Given the description of an element on the screen output the (x, y) to click on. 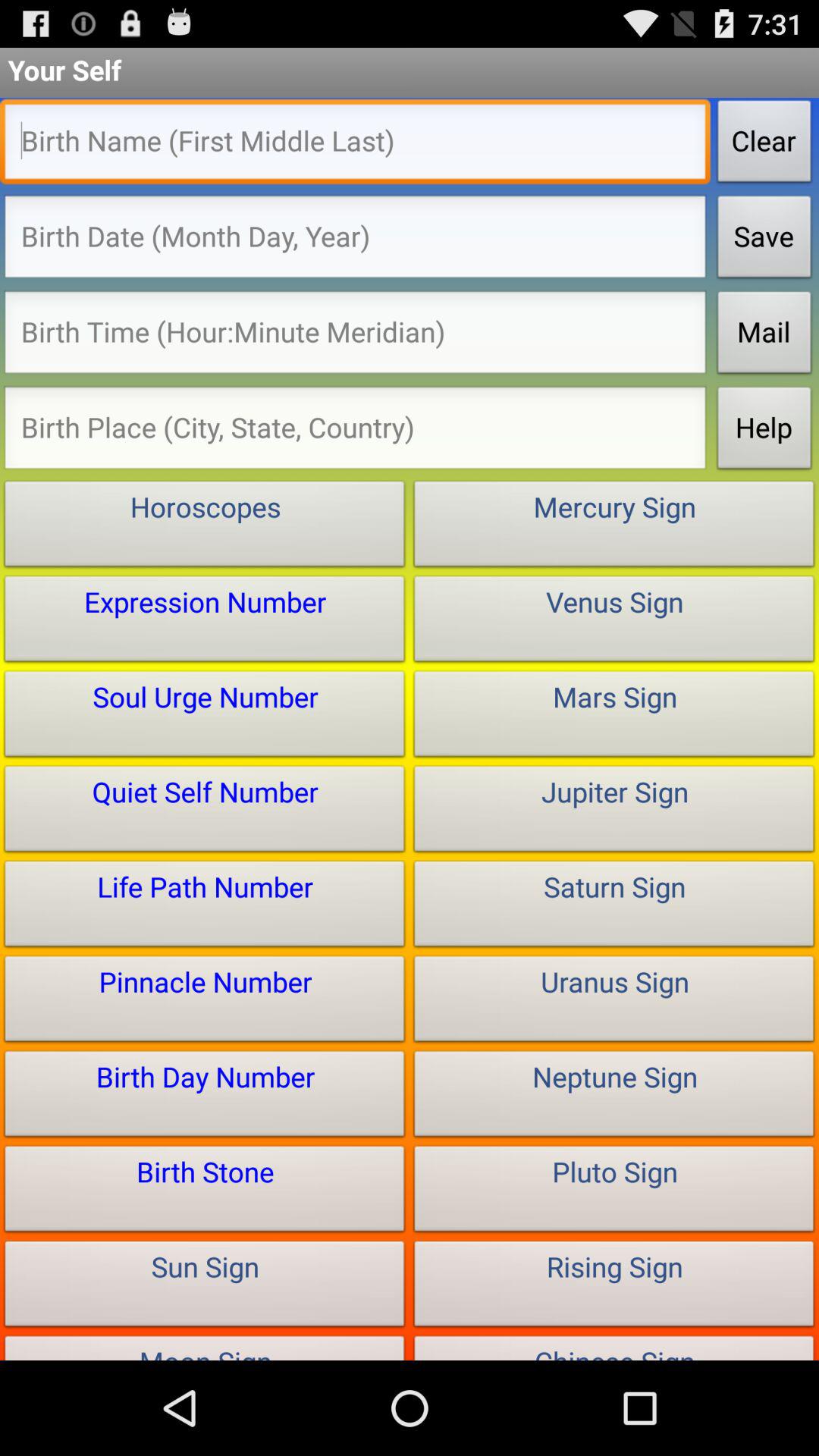
click on the button below mars sign (614, 812)
click on the box that reads the text mars sign (614, 717)
click the button below help button on the web page (614, 527)
click the button below the mercury sign button on the web page (614, 622)
click on pluto sign (614, 1192)
